Given the description of an element on the screen output the (x, y) to click on. 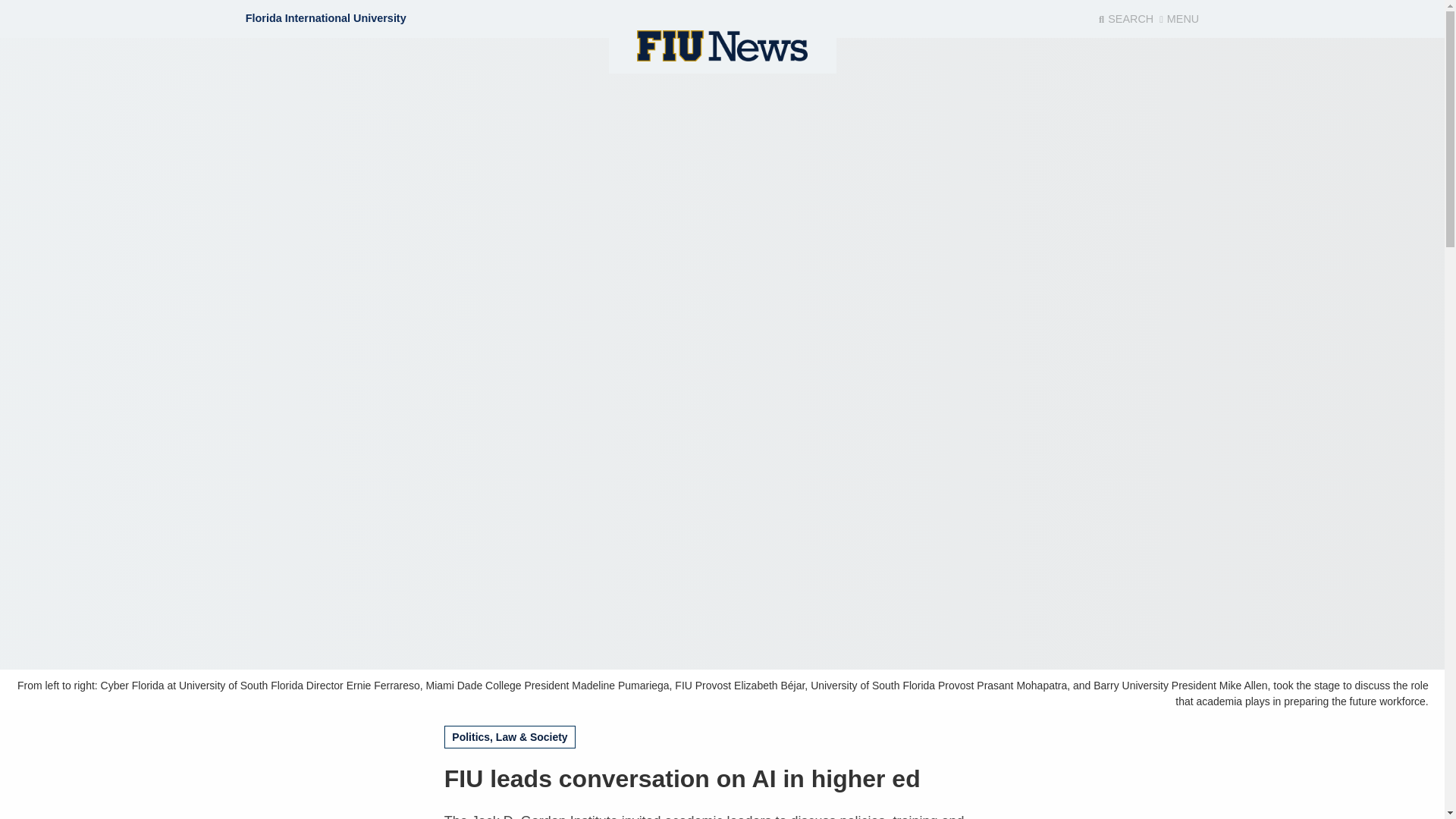
Florida International University (326, 18)
MENU (1178, 19)
SEARCH (1125, 19)
